Given the description of an element on the screen output the (x, y) to click on. 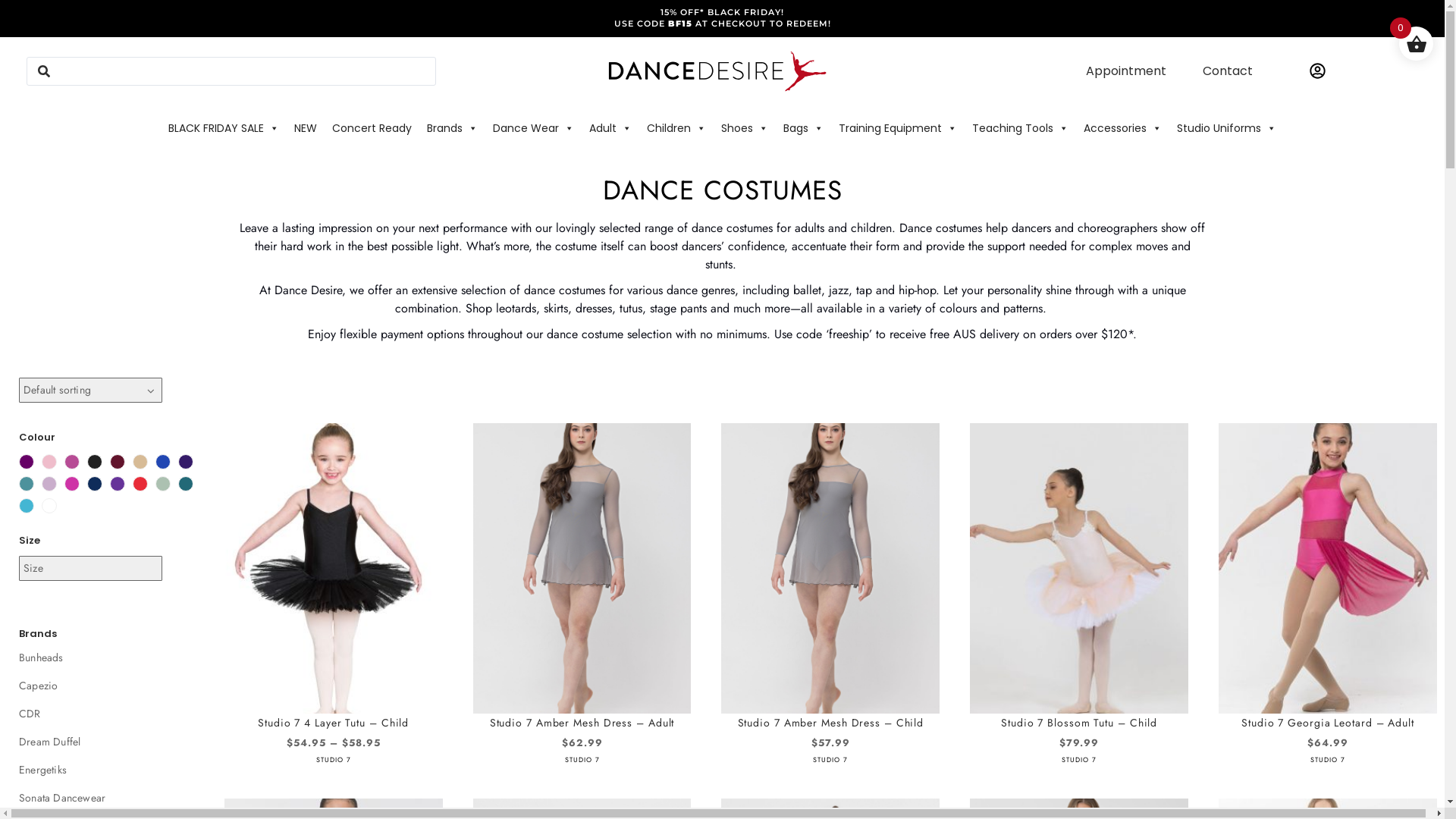
Studio Uniforms Element type: text (1226, 127)
STUDIO 7 Element type: text (581, 759)
STUDIO 7 Element type: text (1078, 759)
Bags Element type: text (803, 127)
NEW Element type: text (305, 127)
BLACK FRIDAY SALE Element type: text (223, 127)
Concert Ready Element type: text (371, 127)
Children Element type: text (676, 127)
Brands Element type: text (452, 127)
STUDIO 7 Element type: text (333, 759)
Teaching Tools Element type: text (1020, 127)
Shoes Element type: text (744, 127)
Adult Element type: text (610, 127)
Appointment Element type: text (1125, 70)
Training Equipment Element type: text (897, 127)
STUDIO 7 Element type: text (1327, 759)
STUDIO 7 Element type: text (829, 759)
Dance Wear Element type: text (533, 127)
Accessories Element type: text (1122, 127)
Contact Element type: text (1227, 70)
